Given the description of an element on the screen output the (x, y) to click on. 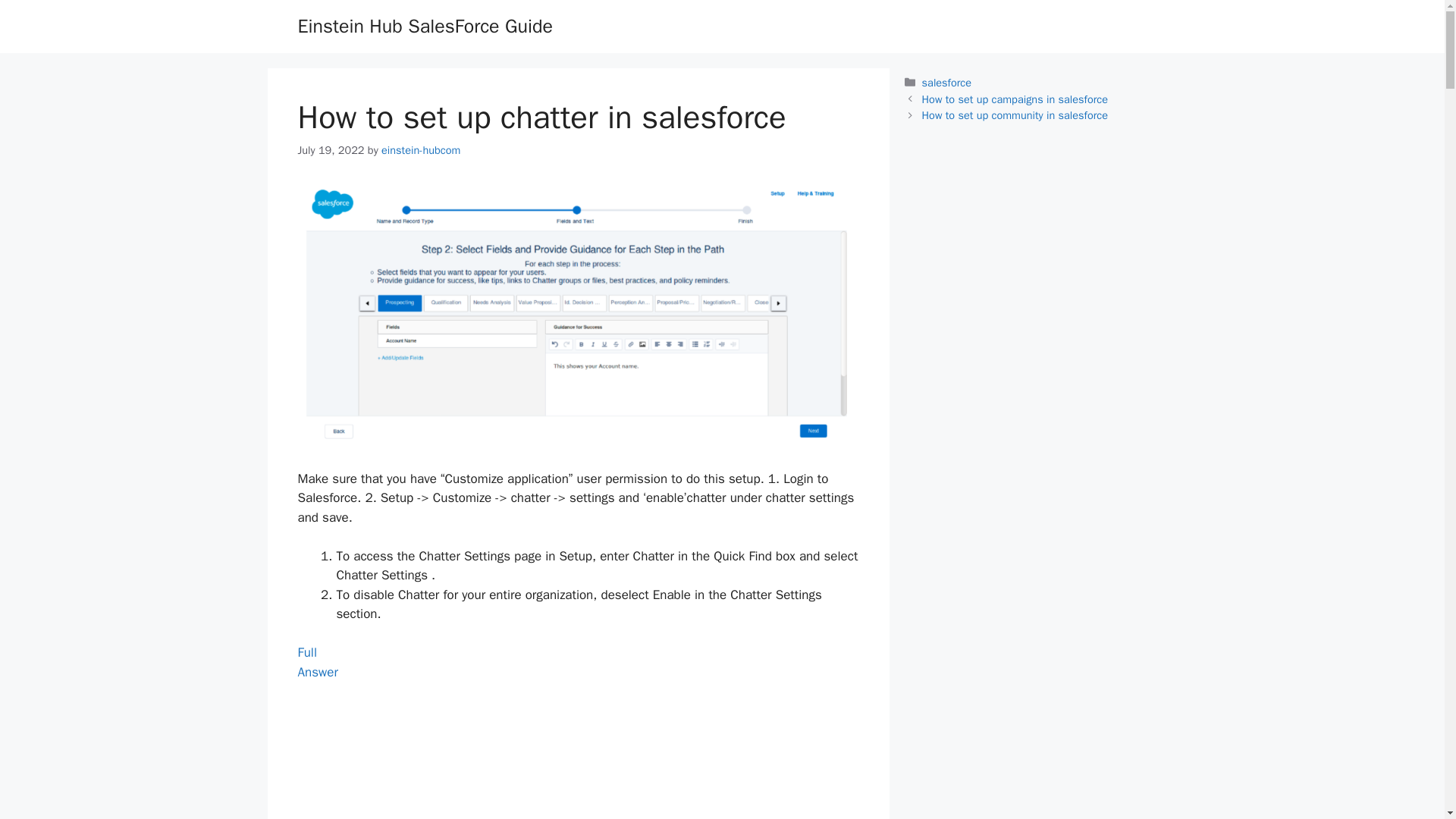
View all posts by einstein-hubcom (317, 662)
einstein-hubcom (420, 150)
Einstein Hub SalesForce Guide (420, 150)
